Given the description of an element on the screen output the (x, y) to click on. 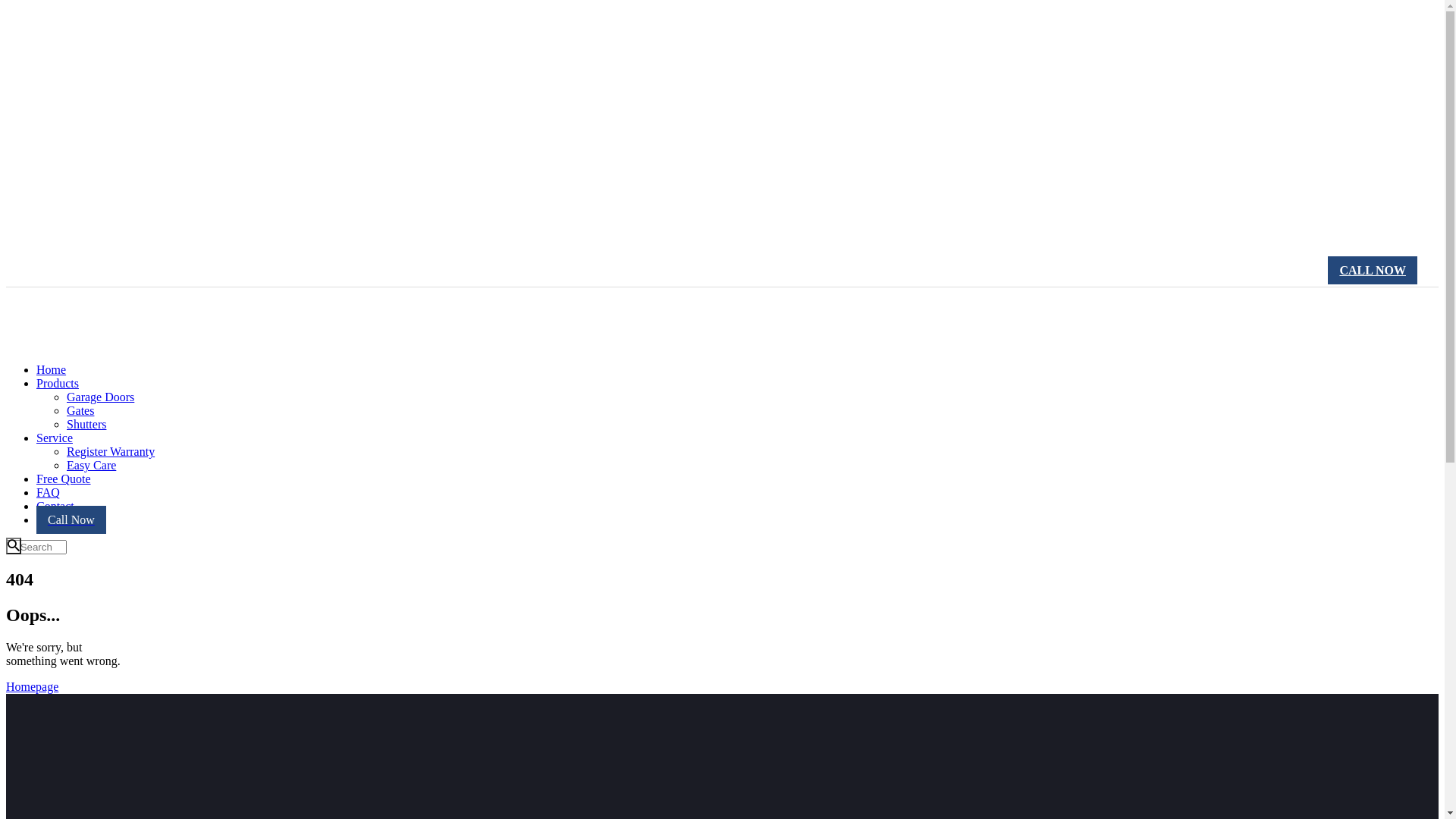
Free Quote Element type: text (63, 478)
Gates Element type: text (80, 410)
Home Element type: text (50, 369)
Products Element type: text (57, 382)
Homepage Element type: text (32, 686)
Shutters Element type: text (86, 423)
Call Now Element type: text (71, 519)
Contact Element type: text (55, 505)
FAQ Element type: text (47, 492)
Register Warranty Element type: text (110, 451)
Garage Doors Element type: text (100, 396)
Easy Care Element type: text (91, 464)
CALL NOW Element type: text (1372, 270)
Service Element type: text (54, 437)
